Given the description of an element on the screen output the (x, y) to click on. 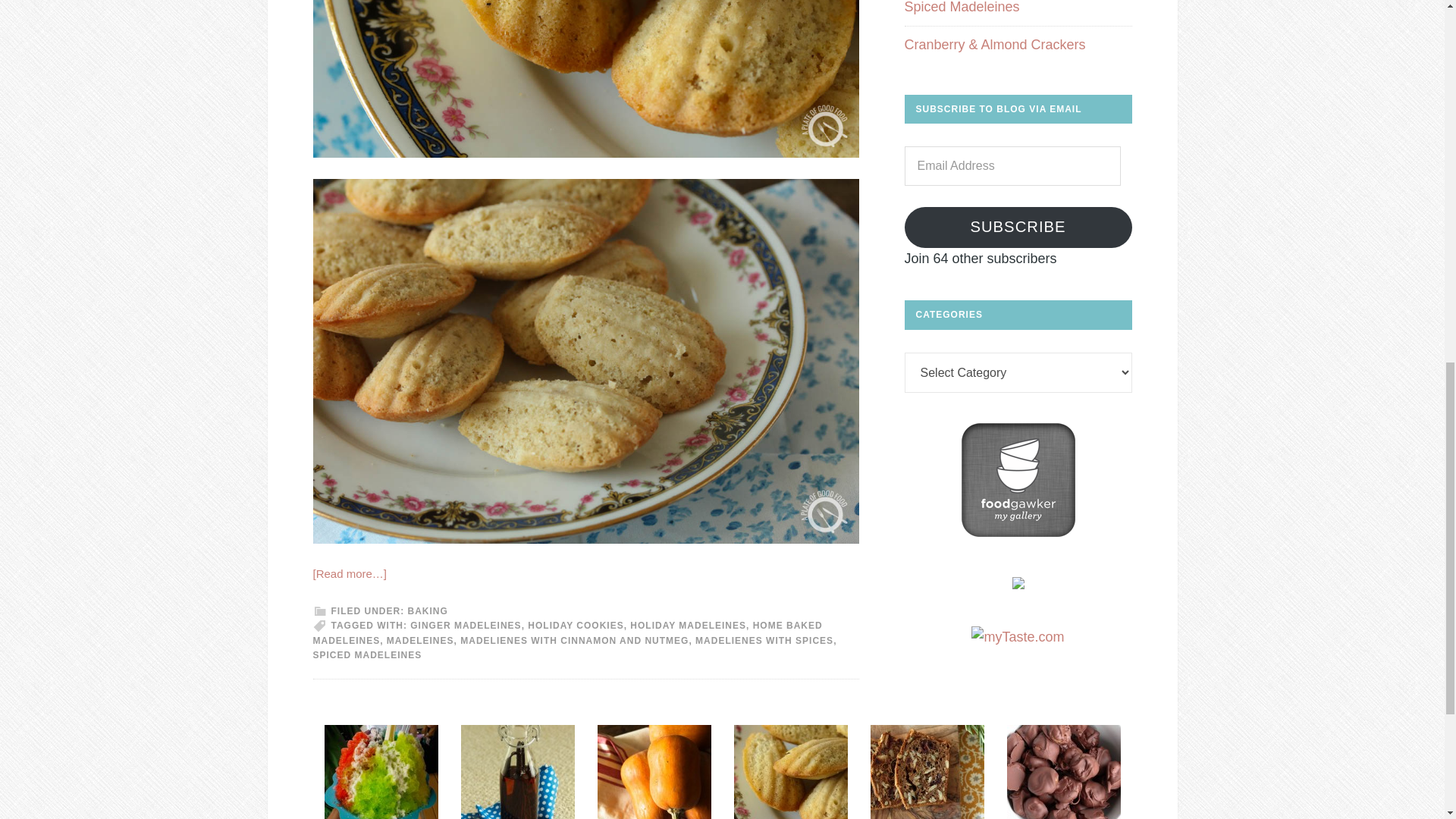
BAKING (427, 611)
myTaste.com (1017, 636)
SUBSCRIBE (1017, 227)
HOLIDAY COOKIES (575, 624)
MADELIENES WITH SPICES (763, 640)
SPICED MADELEINES (367, 655)
GINGER MADELEINES (465, 624)
HOME BAKED MADELEINES (567, 632)
my foodgawker gallery (1017, 531)
Spiced Madeleines (961, 7)
